Given the description of an element on the screen output the (x, y) to click on. 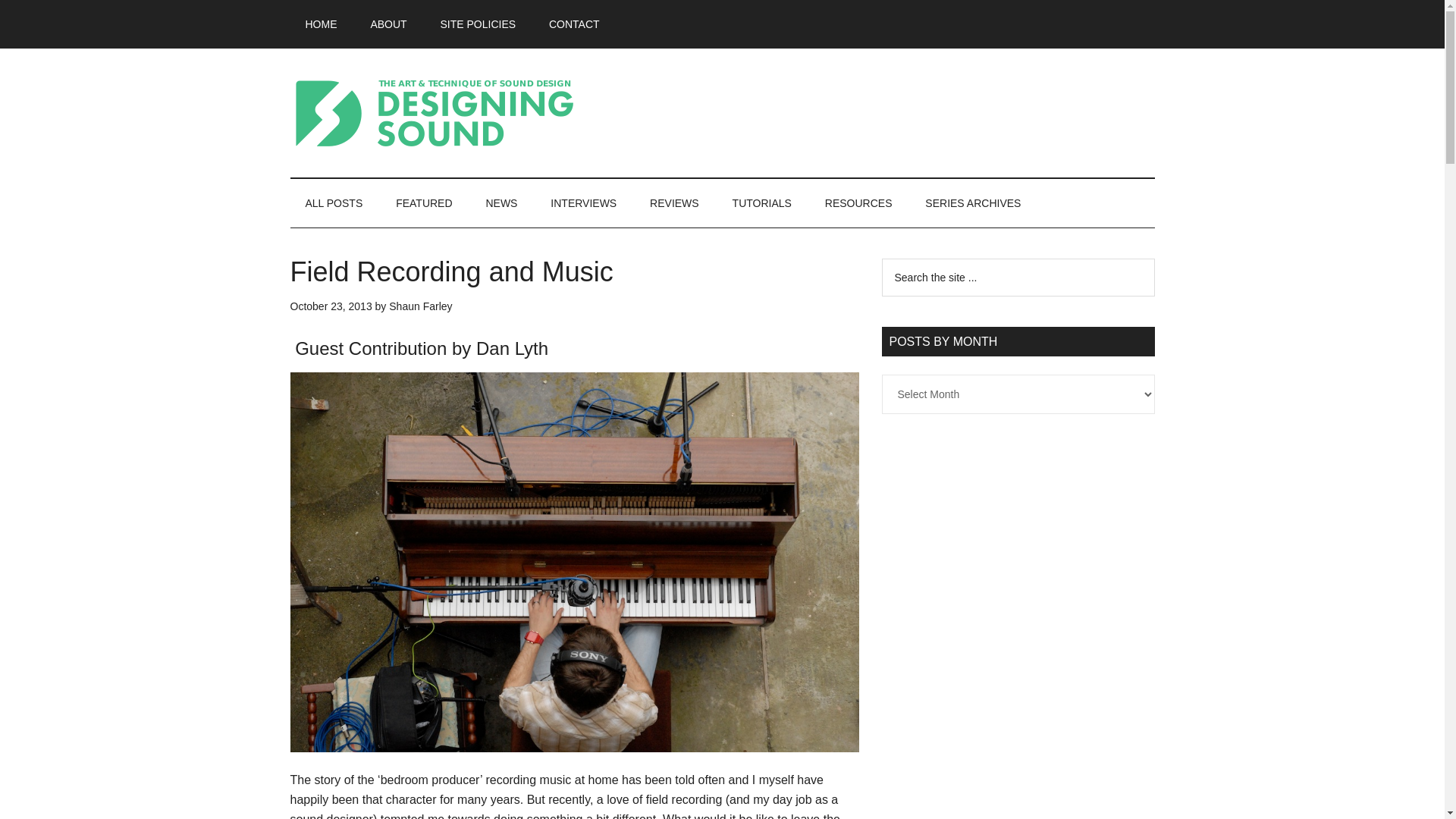
REVIEWS (674, 203)
ALL POSTS (333, 203)
HOME (320, 24)
CONTACT (574, 24)
SITE POLICIES (478, 24)
SERIES ARCHIVES (972, 203)
INTERVIEWS (583, 203)
TUTORIALS (761, 203)
RESOURCES (858, 203)
Designing Sound (433, 112)
FEATURED (423, 203)
ABOUT (388, 24)
Shaun Farley (419, 306)
